Given the description of an element on the screen output the (x, y) to click on. 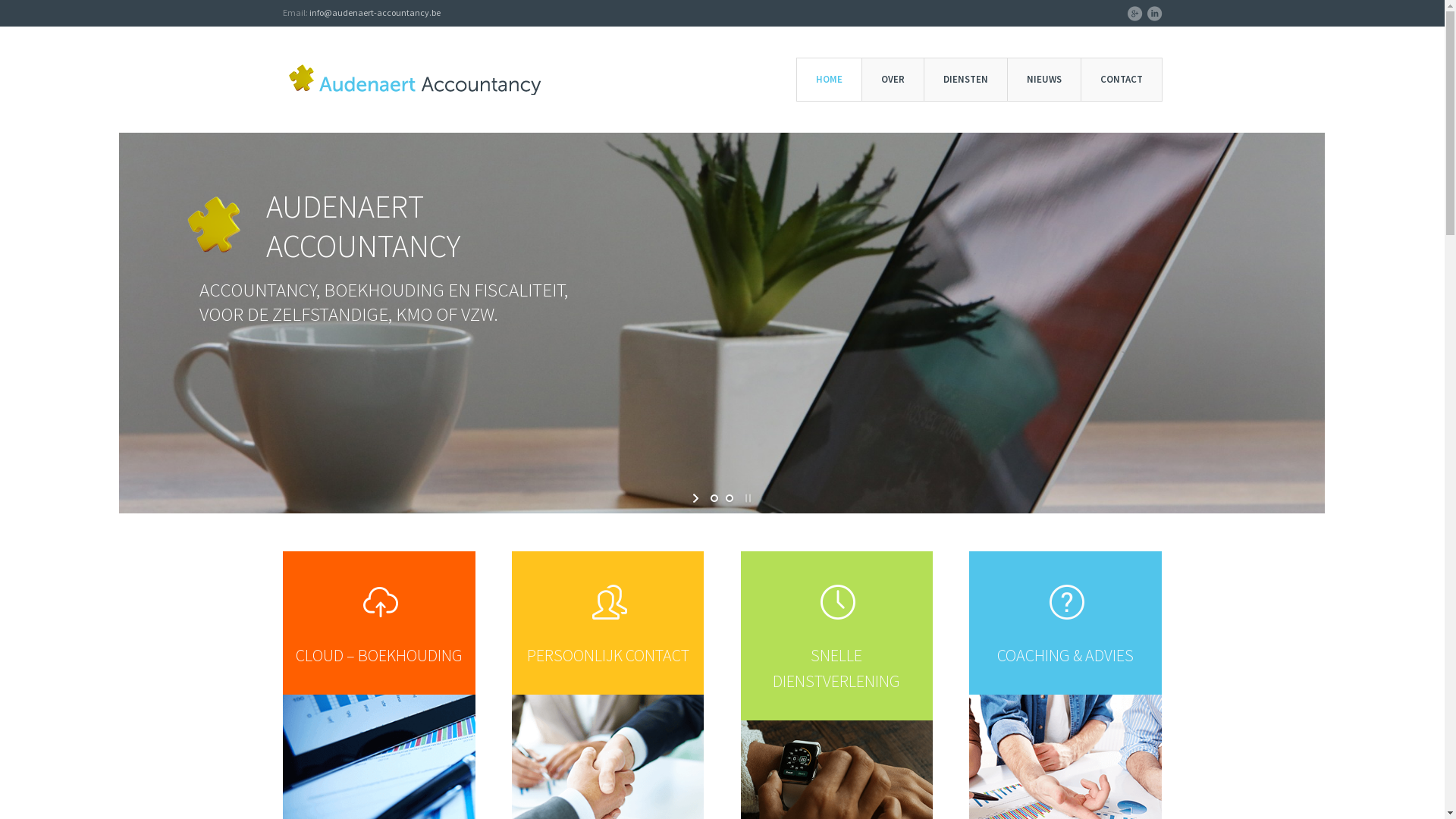
Audenaert Accountancy Element type: hover (1028, 716)
HOME Element type: text (829, 79)
LinkedIn Element type: hover (1153, 13)
OVER Element type: text (892, 79)
NIEUWS Element type: text (1044, 79)
Privacyverklaring Element type: text (484, 749)
Google+ Element type: hover (1134, 13)
DIENSTEN Element type: text (965, 79)
Google+ Element type: hover (292, 707)
CONTACT Element type: text (1120, 79)
info@audenaert-accountancy.be Element type: text (374, 11)
LinkedIn Element type: hover (321, 707)
